Given the description of an element on the screen output the (x, y) to click on. 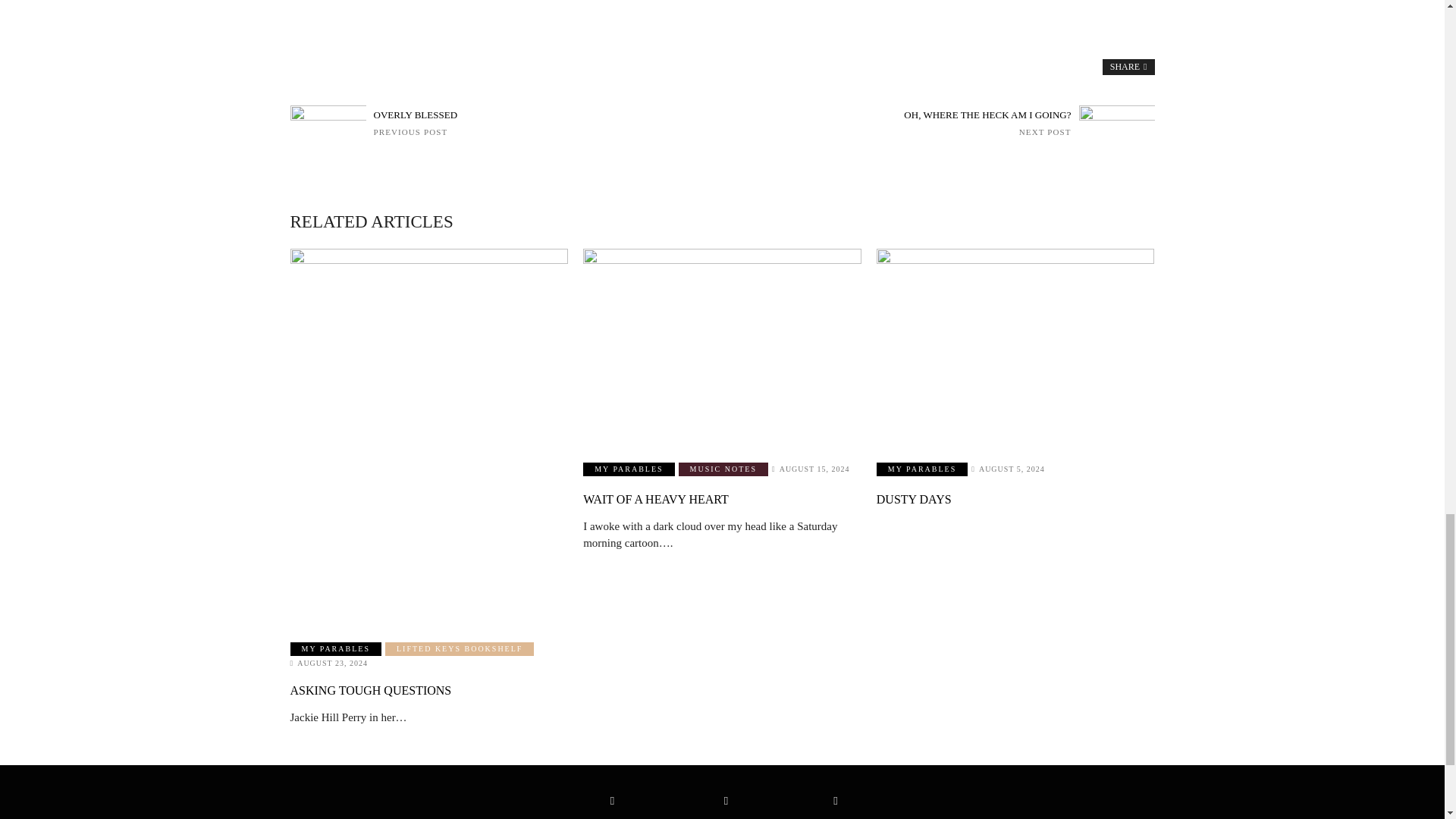
Wait of a Heavy Heart (722, 345)
Dusty Days (1015, 345)
MY PARABLES (334, 649)
